Given the description of an element on the screen output the (x, y) to click on. 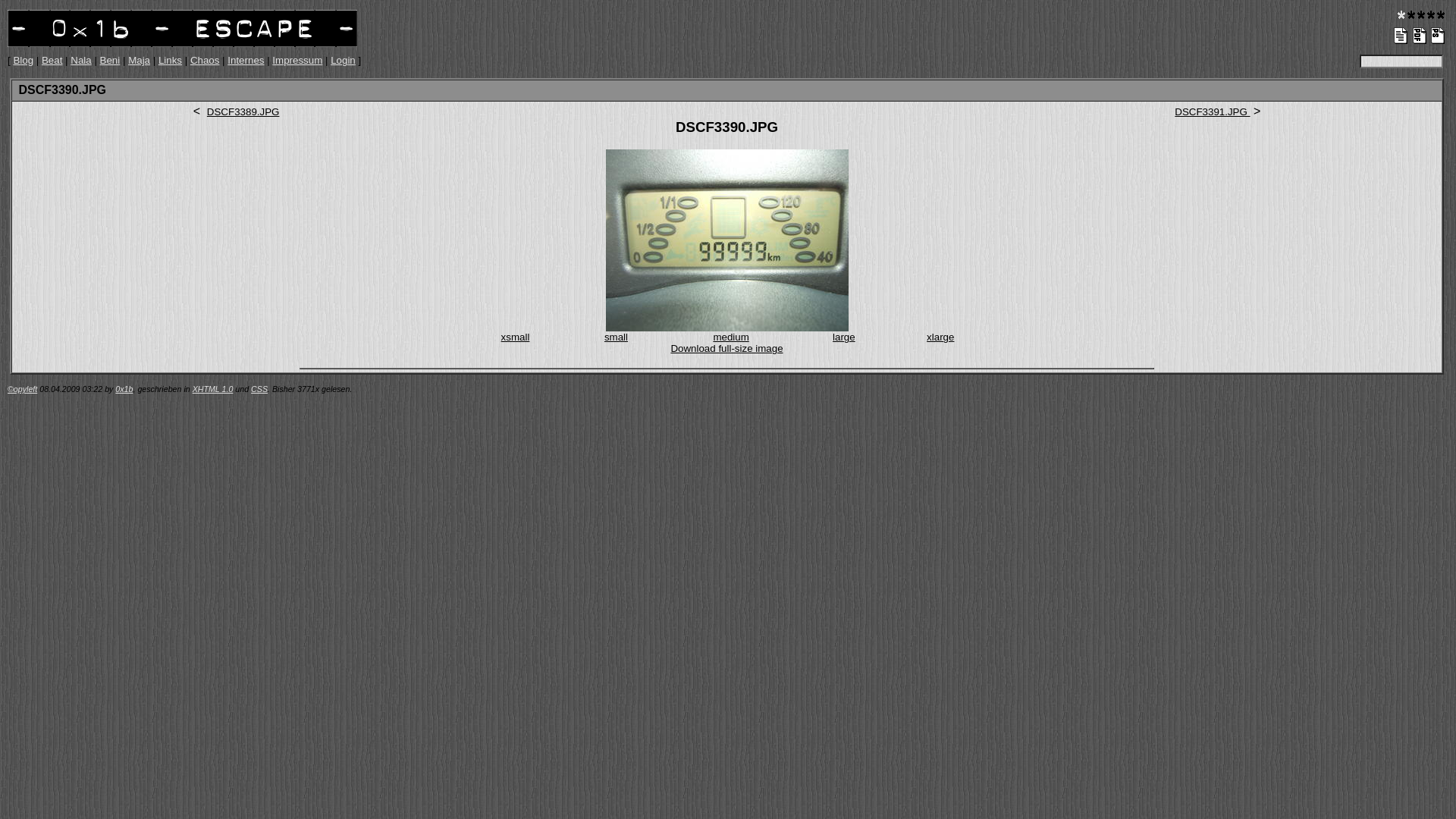
large Element type: text (843, 336)
Nala Element type: text (80, 59)
DSCF3389.JPG Element type: text (243, 110)
medium Element type: text (730, 336)
0x1b Element type: text (123, 388)
Maja Element type: text (139, 59)
small Element type: text (615, 336)
Impressum Element type: text (297, 59)
Blog Element type: text (22, 59)
Seite als Text Element type: hover (1400, 35)
DSCF3391.JPG Element type: text (1211, 110)
CSS Element type: text (259, 388)
Beat Element type: text (51, 59)
xsmall Element type: text (515, 336)
Links Element type: text (170, 59)
Login Element type: text (342, 59)
Internes Element type: text (245, 59)
Seite als PDF Element type: hover (1419, 35)
Chaos Element type: text (204, 59)
Seite als Postscript Element type: hover (1438, 35)
Beni Element type: text (110, 59)
Download full-size image Element type: text (726, 348)
xlarge Element type: text (939, 336)
Suche Element type: hover (1401, 61)
XHTML 1.0 Element type: text (212, 388)
